Given the description of an element on the screen output the (x, y) to click on. 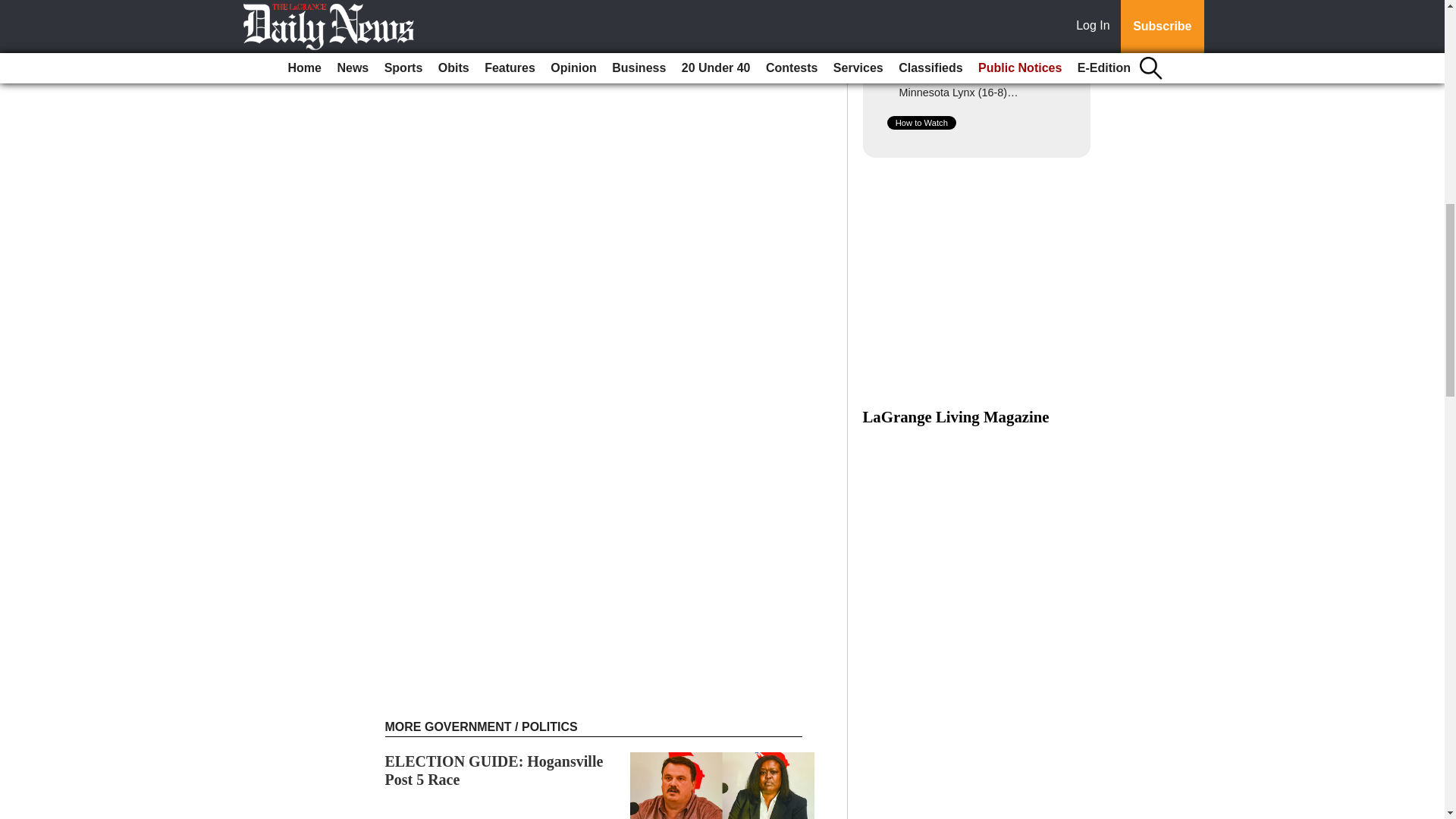
ELECTION GUIDE: Hogansville Post 5 Race (494, 769)
ELECTION GUIDE: Hogansville Post 5 Race (494, 769)
How to Watch (921, 122)
